Given the description of an element on the screen output the (x, y) to click on. 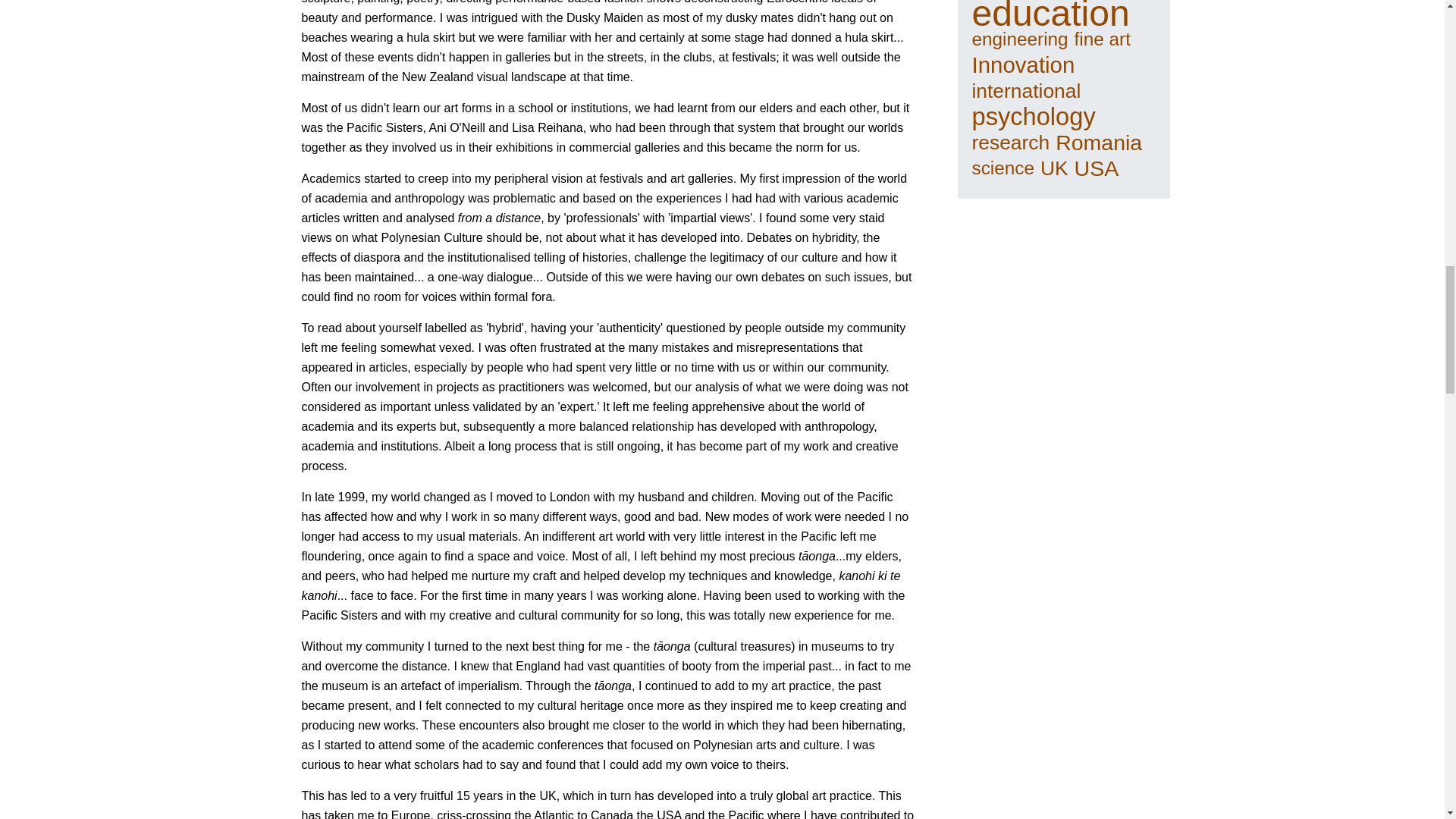
9 items tagged with science (1002, 167)
11 items tagged with UK (1053, 167)
17 items tagged with psychology (1034, 116)
13 items tagged with Romania (1098, 142)
11 items tagged with international (1026, 90)
14 items tagged with Innovation (1023, 64)
9 items tagged with engineering (1020, 39)
32 items tagged with education (1050, 13)
9 items tagged with fine art (1102, 39)
12 items tagged with cultural (1005, 0)
11 items tagged with research (1010, 142)
13 items tagged with USA (1096, 167)
9 items tagged with culture (1072, 0)
